Given the description of an element on the screen output the (x, y) to click on. 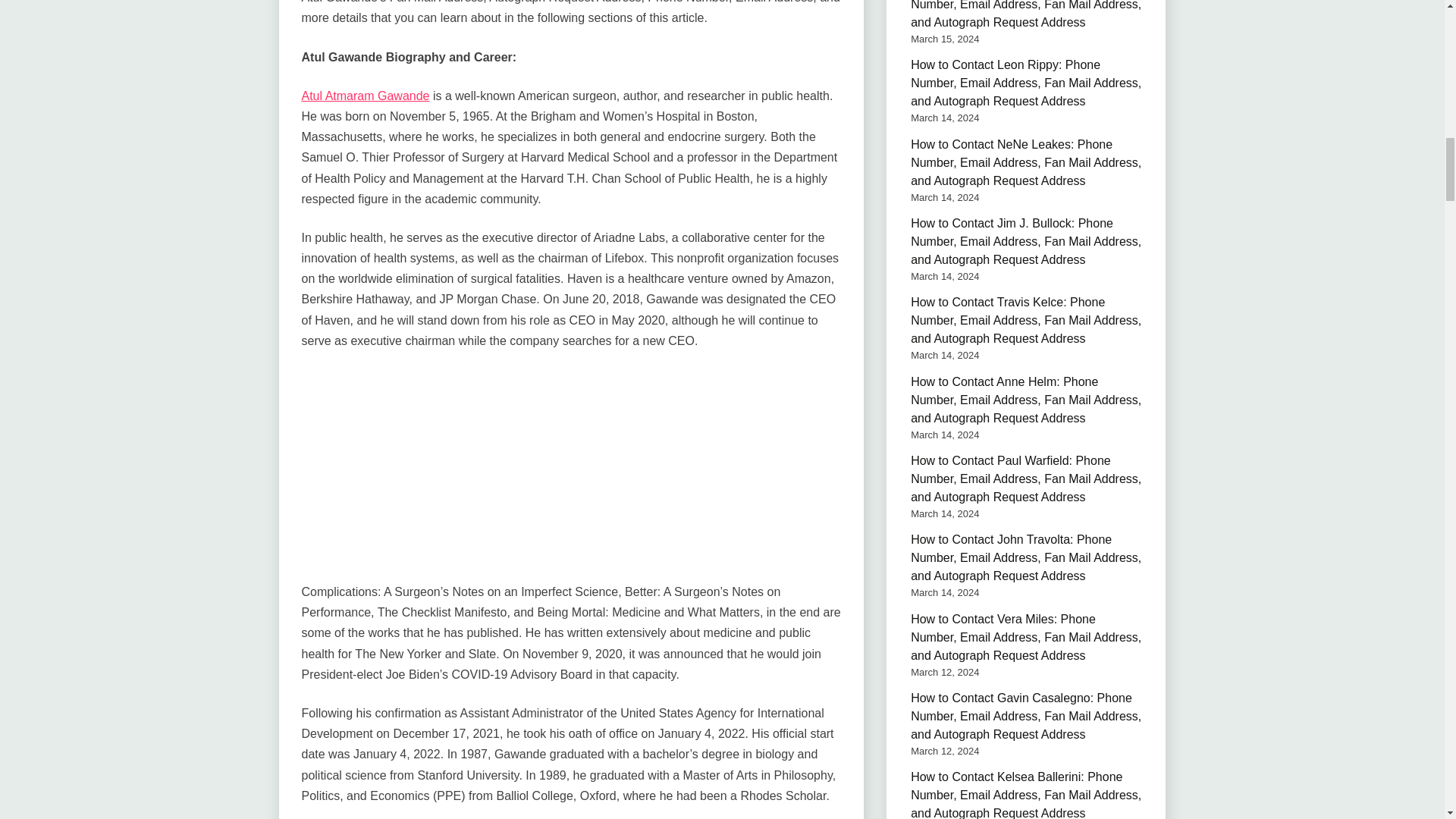
Advertisement (571, 475)
Atul Atmaram Gawande (365, 95)
